Given the description of an element on the screen output the (x, y) to click on. 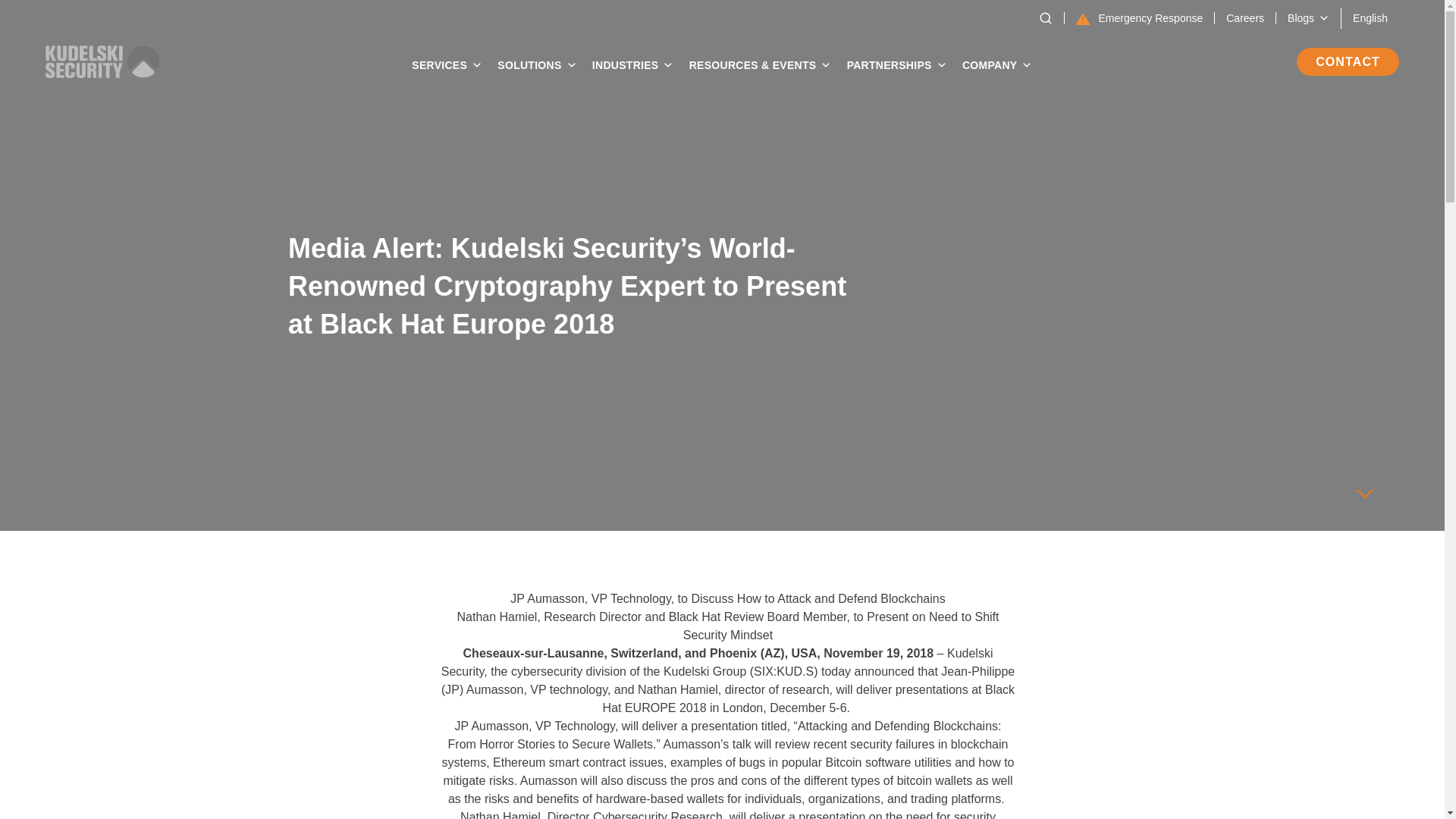
Blogs (1307, 18)
Emergency Response (1138, 18)
English (1369, 17)
INDUSTRIES (633, 64)
SERVICES (446, 64)
English (1369, 17)
SOLUTIONS (536, 64)
Careers (1244, 18)
